Given the description of an element on the screen output the (x, y) to click on. 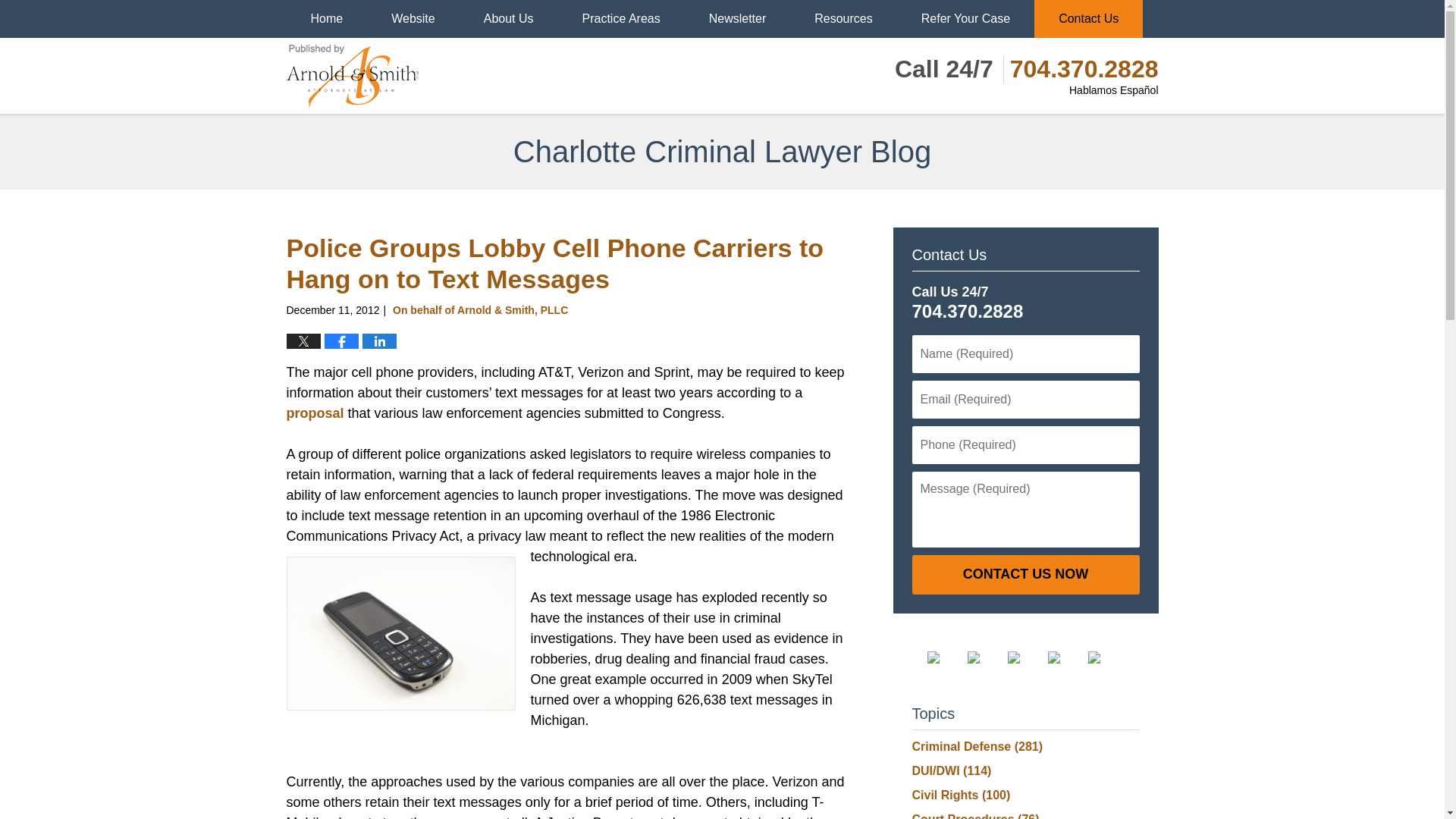
Practice Areas (620, 18)
LinkedIn (1025, 657)
Charlotte Criminal Lawyer Blog (352, 76)
Newsletter (737, 18)
Contact Us (1087, 18)
Facebook (944, 657)
Please enter a valid phone number. (1024, 444)
proposal (314, 412)
CONTACT US NOW (1024, 574)
Justia (1066, 657)
